Given the description of an element on the screen output the (x, y) to click on. 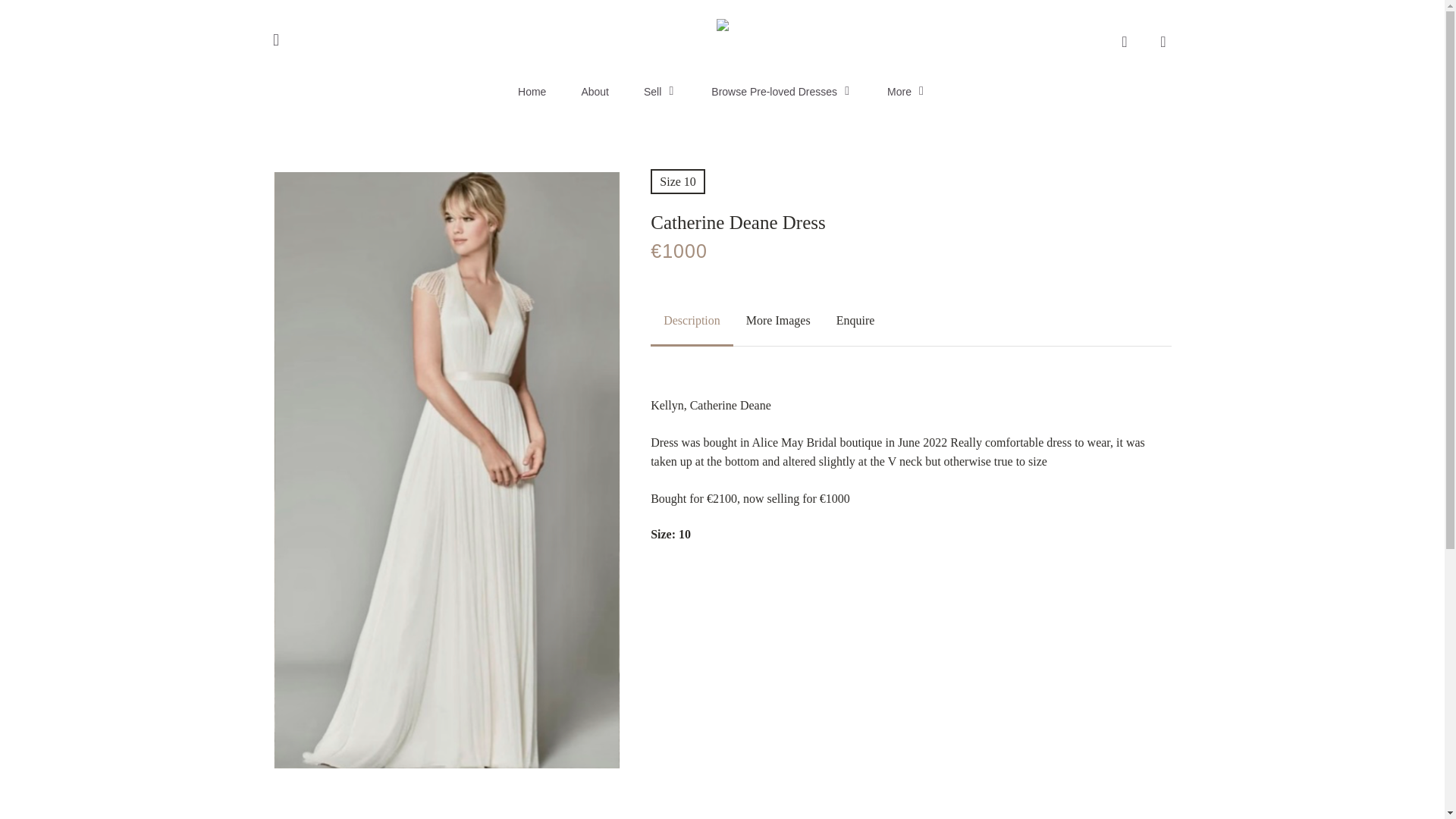
About (594, 91)
search (1124, 41)
Size 10 (677, 181)
More (906, 91)
Browse Pre-loved Dresses (781, 91)
Enquire (856, 320)
More Images (778, 320)
Sell (660, 91)
Home (531, 91)
Description (691, 320)
